Given the description of an element on the screen output the (x, y) to click on. 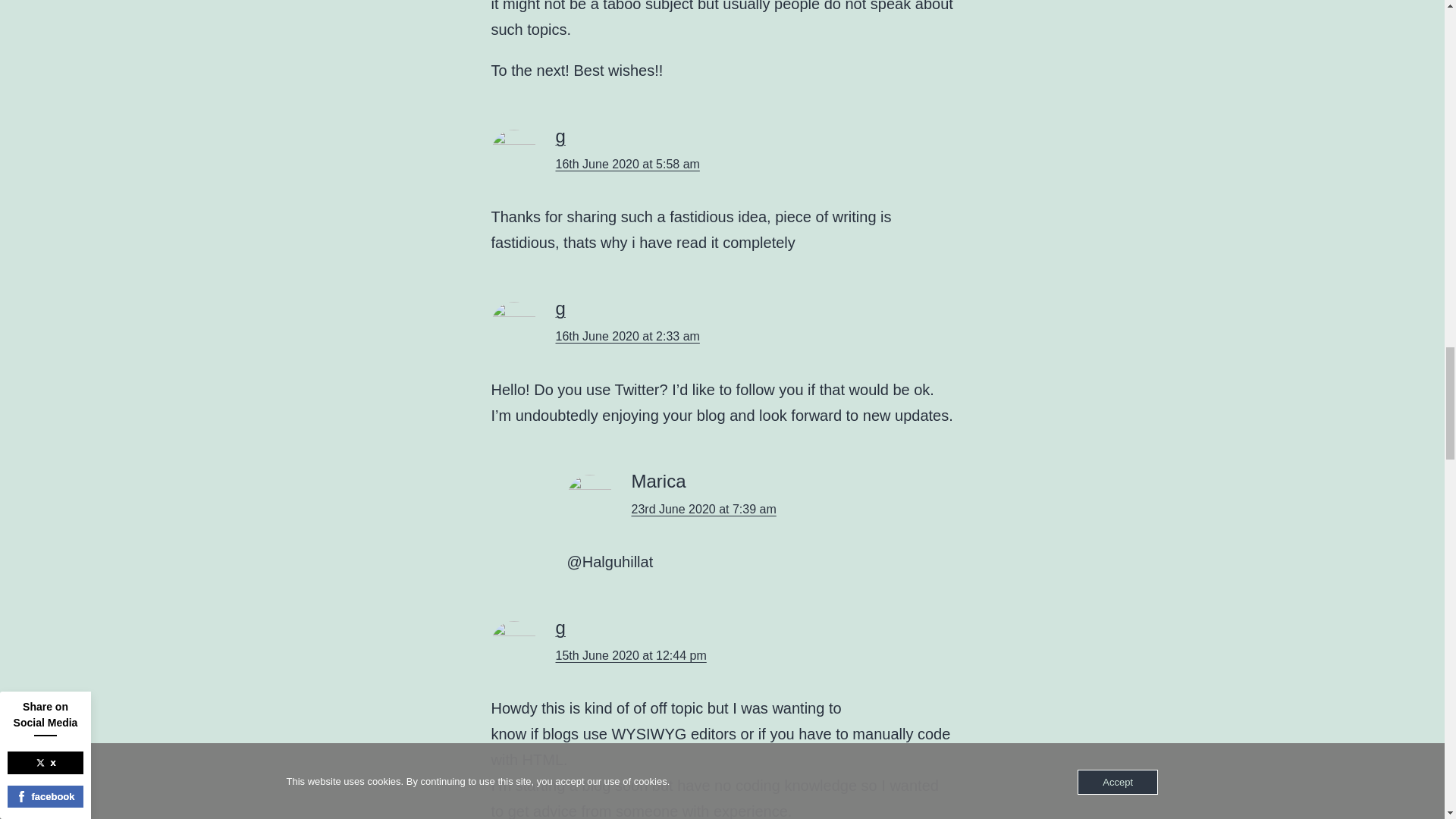
16th June 2020 at 5:58 am (626, 164)
23rd June 2020 at 7:39 am (703, 508)
16th June 2020 at 2:33 am (626, 336)
15th June 2020 at 12:44 pm (630, 655)
